Given the description of an element on the screen output the (x, y) to click on. 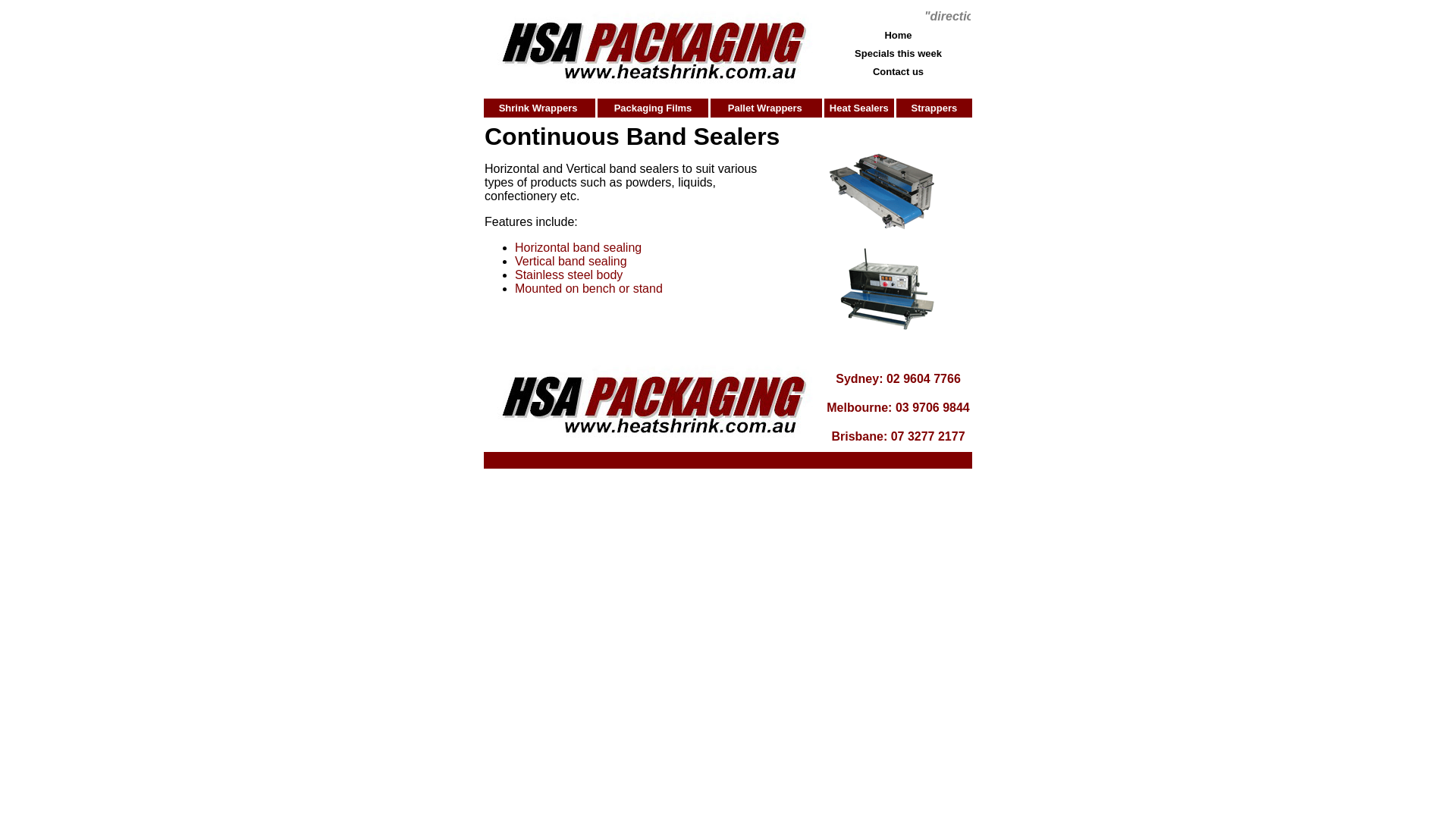
jordan 6 history of jordan Element type: text (1028, 476)
lululemon outlet Element type: text (1324, 476)
 Heat Sealers  Element type: text (858, 107)
  Element type: text (858, 88)
Contact us Element type: text (897, 71)
sport blue 6s Element type: text (614, 504)
Pallet Wrappers  Element type: text (766, 107)
michael kors outlet Element type: text (653, 476)
cheap jordans Element type: text (481, 504)
history of jordan 6s Element type: text (77, 490)
sport blue 6s Element type: text (170, 504)
cheap air jordan shoes Element type: text (455, 476)
Packaging Films Element type: text (653, 107)
Louis Vuitton Outlet Element type: text (867, 490)
louis vuitton outlet Element type: text (559, 476)
legend blue 11s Element type: text (360, 476)
sport blue 6s Element type: text (549, 504)
cheap jordans Element type: text (729, 497)
beats by dre solo Element type: text (1309, 490)
nike kd vii Element type: text (230, 504)
louis vuitton outlet Element type: text (90, 504)
sport blue 6s Element type: text (578, 490)
Specials this week Element type: text (897, 53)
Home Element type: text (897, 34)
sport blue 6s Element type: text (829, 476)
jordan 3 sport blue Element type: text (720, 483)
louis vuitton outlet Element type: text (749, 476)
retro jordans for sale Element type: text (763, 490)
louis vuitton outlet Element type: text (268, 490)
 Strappers  Element type: text (934, 107)
michael kors outlet Element type: text (1061, 490)
foamposites for sale Element type: text (661, 490)
sport blue 3s Element type: text (513, 490)
louis vuitton outlet Element type: text (966, 490)
cheap jordans Element type: text (350, 490)
  Element type: text (933, 88)
cheap jordan shoes Element type: text (173, 490)
history of jordan 6s Element type: text (180, 476)
michael kors outlet Element type: text (1157, 490)
cheap jordans Element type: text (1386, 490)
Louis Vuitton Outlet Element type: text (913, 476)
foamposites Element type: text (1236, 490)
louis vuitton outlet Element type: text (399, 504)
louis vuitton outlet Element type: text (305, 504)
louis vuitton outlet Element type: text (433, 490)
jordan 6 history of jordan Element type: text (68, 476)
beats by dre outlet Element type: text (275, 476)
Shrink Wrappers  Element type: text (539, 107)
louis vuitton outlet Element type: text (1139, 476)
michael kors outlet Element type: text (1234, 476)
